Given the description of an element on the screen output the (x, y) to click on. 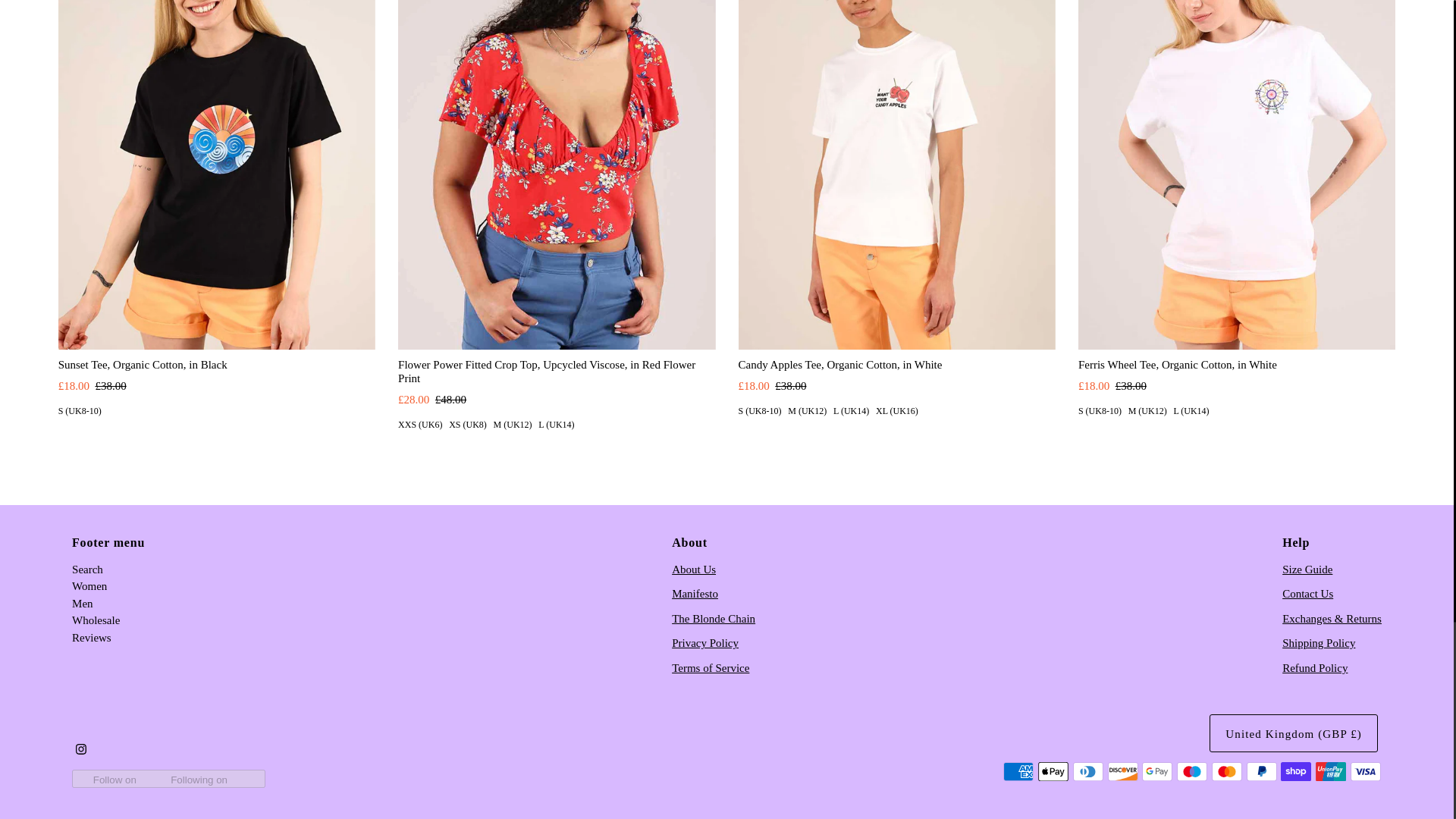
Diners Club (1088, 771)
Sunset Tee, Organic Cotton, in Black (216, 175)
Candy Apples Tee, Organic Cotton, in White (896, 175)
Google Pay (1156, 771)
American Express (1018, 771)
Maestro (1191, 771)
Manisfesto (694, 593)
Ferris Wheel Tee, Organic Cotton, in White (1236, 175)
Discover (1123, 771)
About us (693, 569)
